Given the description of an element on the screen output the (x, y) to click on. 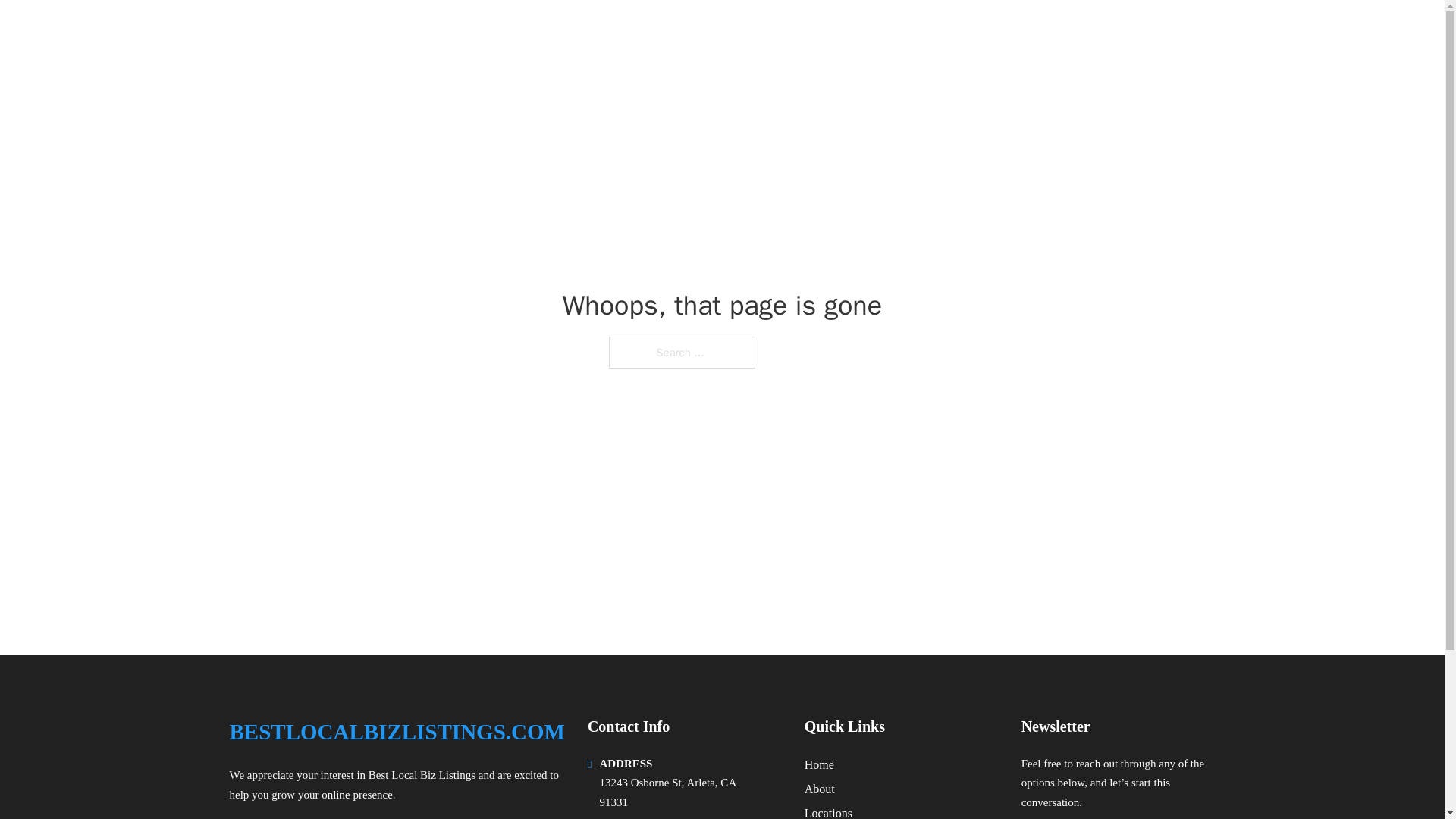
BESTLOCALBIZLISTINGS.COM (396, 732)
Locations (828, 811)
LOCATIONS (1075, 31)
HOME (1002, 31)
Home (819, 764)
BESTLOCALBIZLISTINGS.COM (413, 31)
About (819, 788)
